Given the description of an element on the screen output the (x, y) to click on. 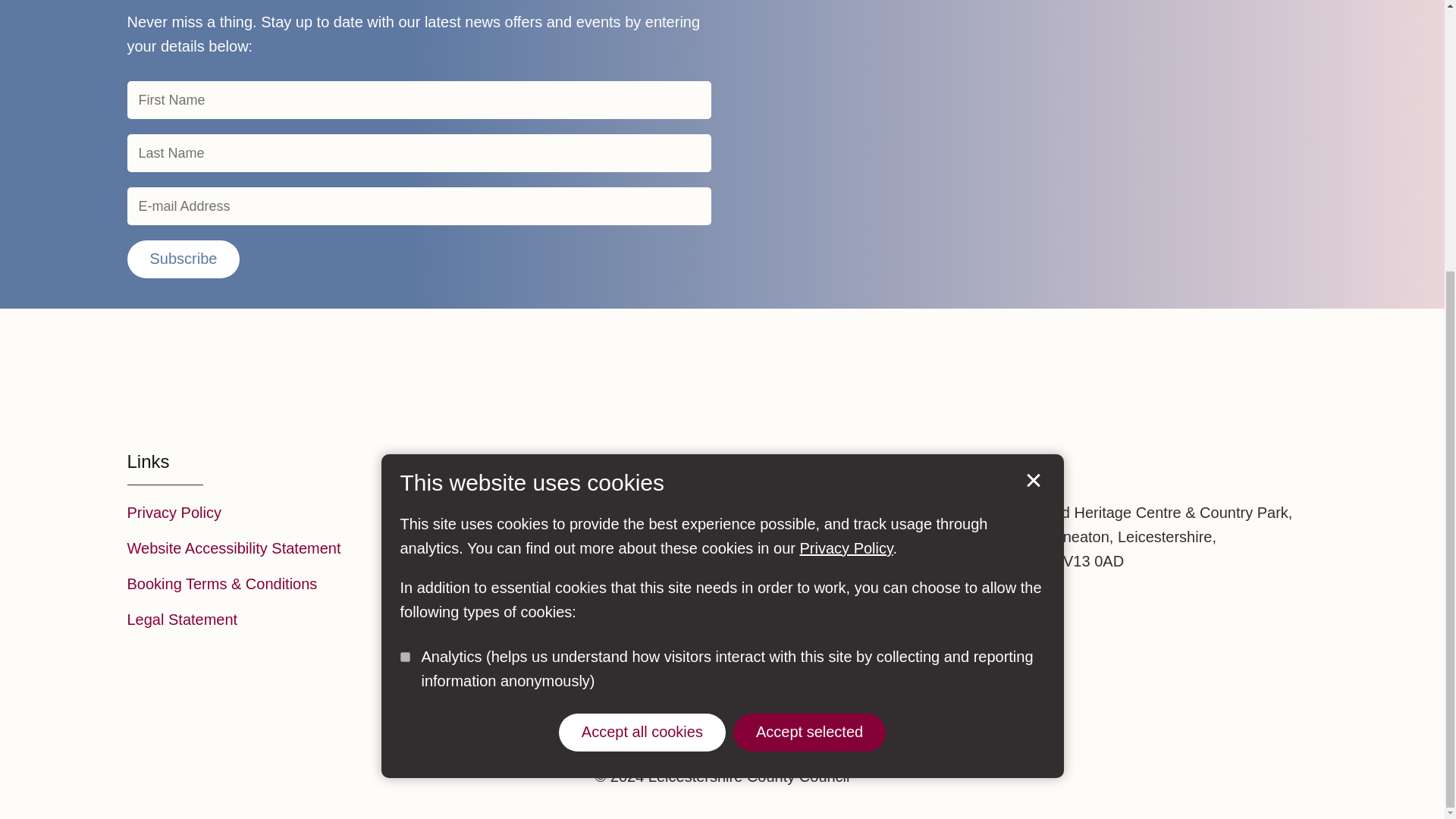
Accept selected (809, 333)
Legal Statement (183, 619)
Subscribe (184, 259)
Accept all cookies (642, 333)
stats (405, 258)
Privacy Policy (846, 149)
Privacy Policy (174, 512)
Website Accessibility Statement (234, 547)
